Given the description of an element on the screen output the (x, y) to click on. 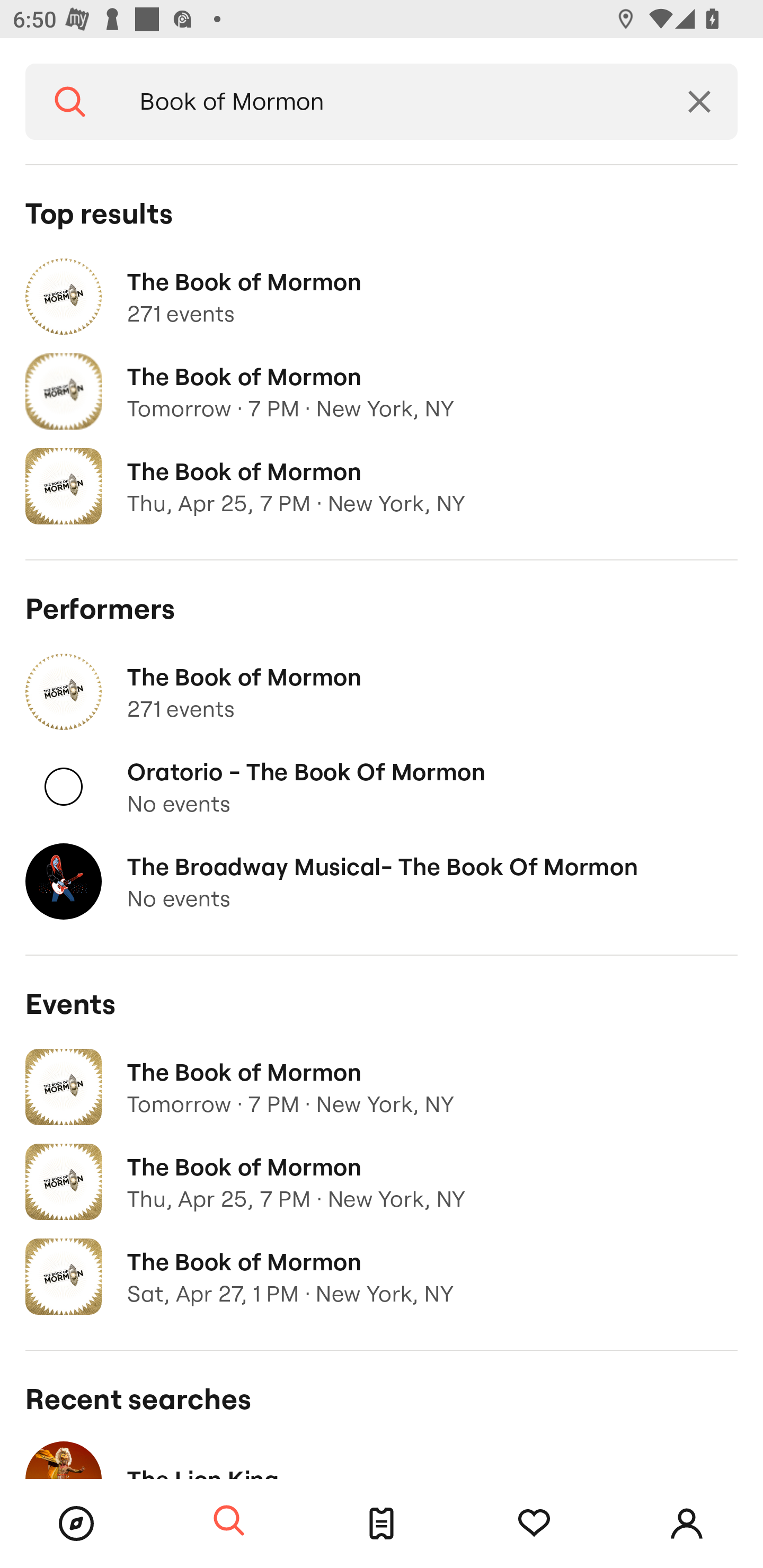
Search (69, 101)
Book of Mormon (387, 101)
Clear (699, 101)
The Book of Mormon 271 events (381, 296)
The Book of Mormon Tomorrow · 7 PM · New York, NY (381, 391)
The Book of Mormon 271 events (381, 692)
Oratorio - The Book Of Mormon No events (381, 787)
The Broadway Musical- The Book Of Mormon No events (381, 881)
The Book of Mormon Tomorrow · 7 PM · New York, NY (381, 1087)
Browse (76, 1523)
Search (228, 1521)
Tickets (381, 1523)
Tracking (533, 1523)
Account (686, 1523)
